Given the description of an element on the screen output the (x, y) to click on. 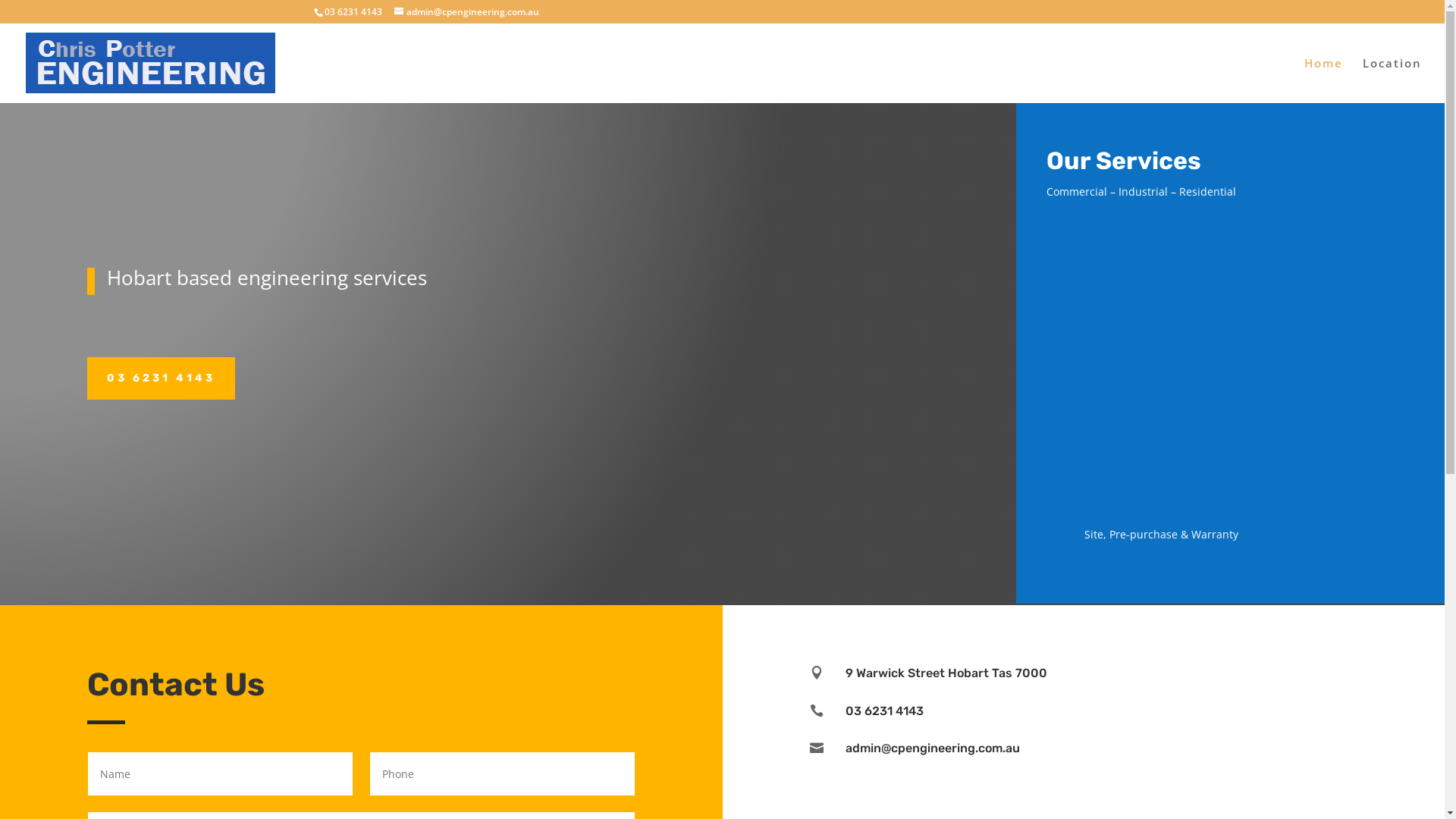
Location Element type: text (1391, 80)
admin@cpengineering.com.au Element type: text (466, 11)
Home Element type: text (1323, 80)
03 6231 4143 Element type: text (161, 378)
